Given the description of an element on the screen output the (x, y) to click on. 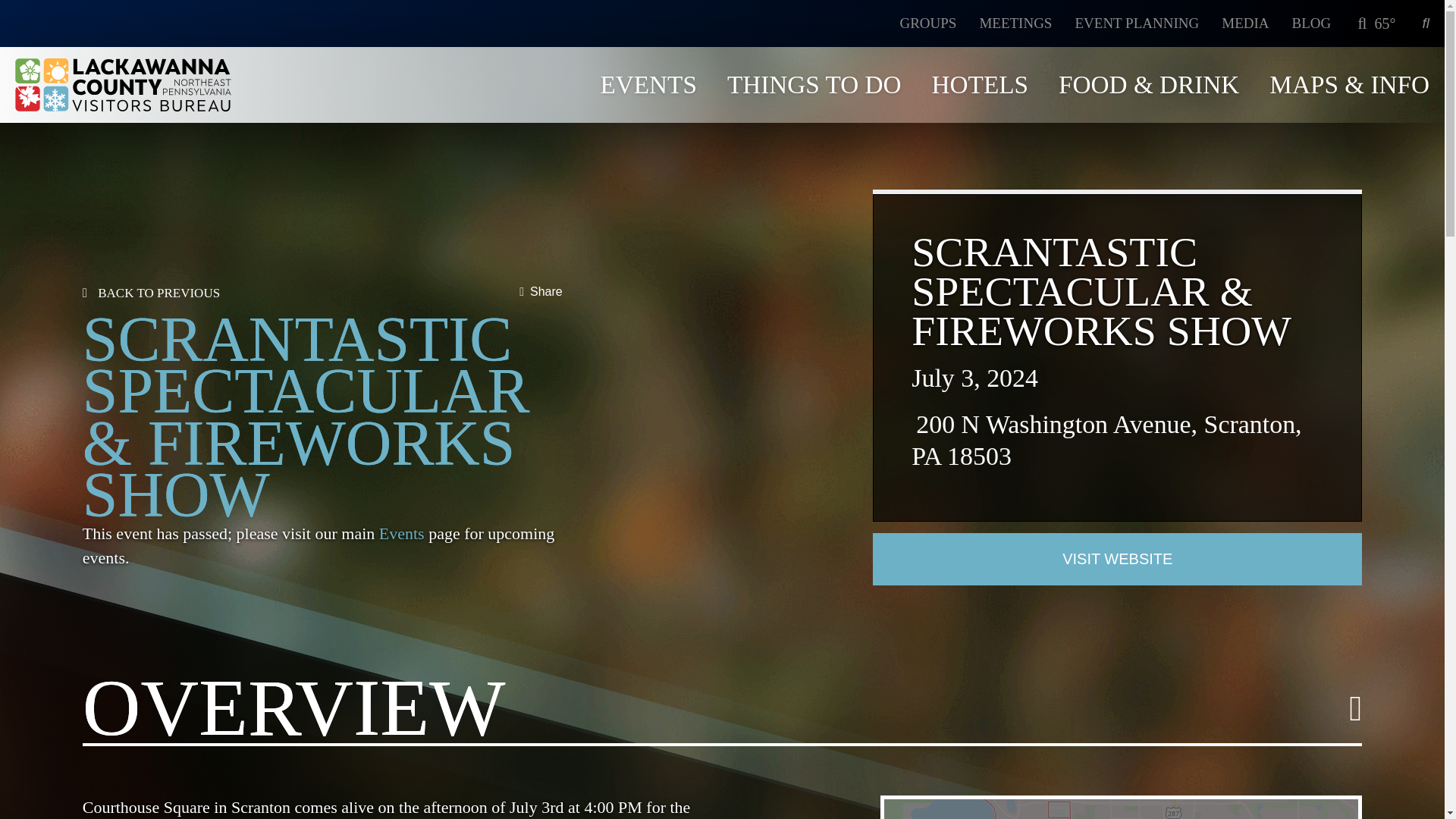
EVENT PLANNING (1136, 23)
MEETINGS (1014, 23)
Meetings (1014, 23)
MEDIA (1244, 23)
EVENTS (647, 84)
BLOG (1312, 23)
Groups (927, 23)
GROUPS (927, 23)
